Given the description of an element on the screen output the (x, y) to click on. 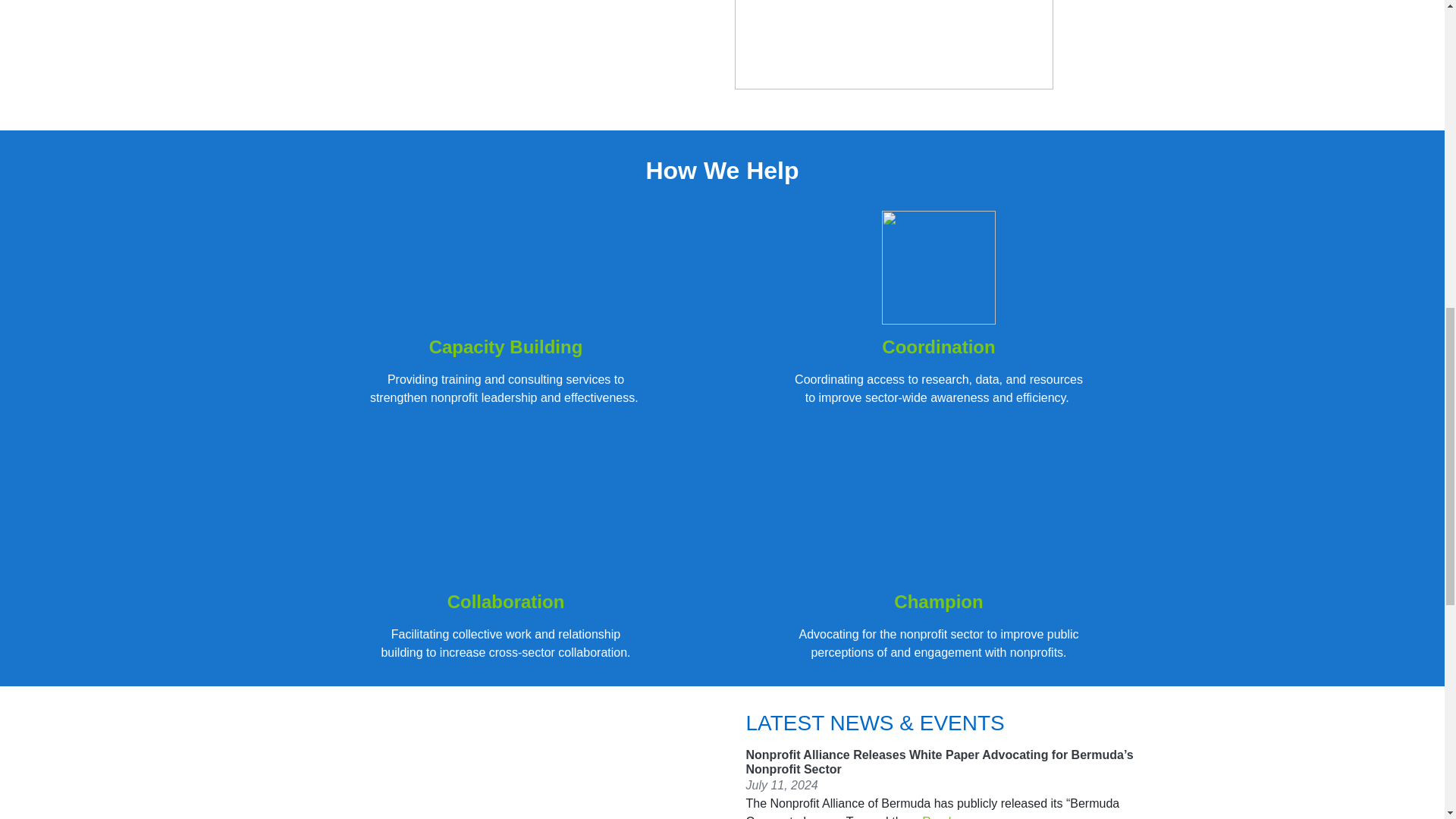
Coordination (938, 346)
Collaboration (505, 601)
Capacity Building (506, 346)
Read more (951, 816)
Champion (937, 601)
